Given the description of an element on the screen output the (x, y) to click on. 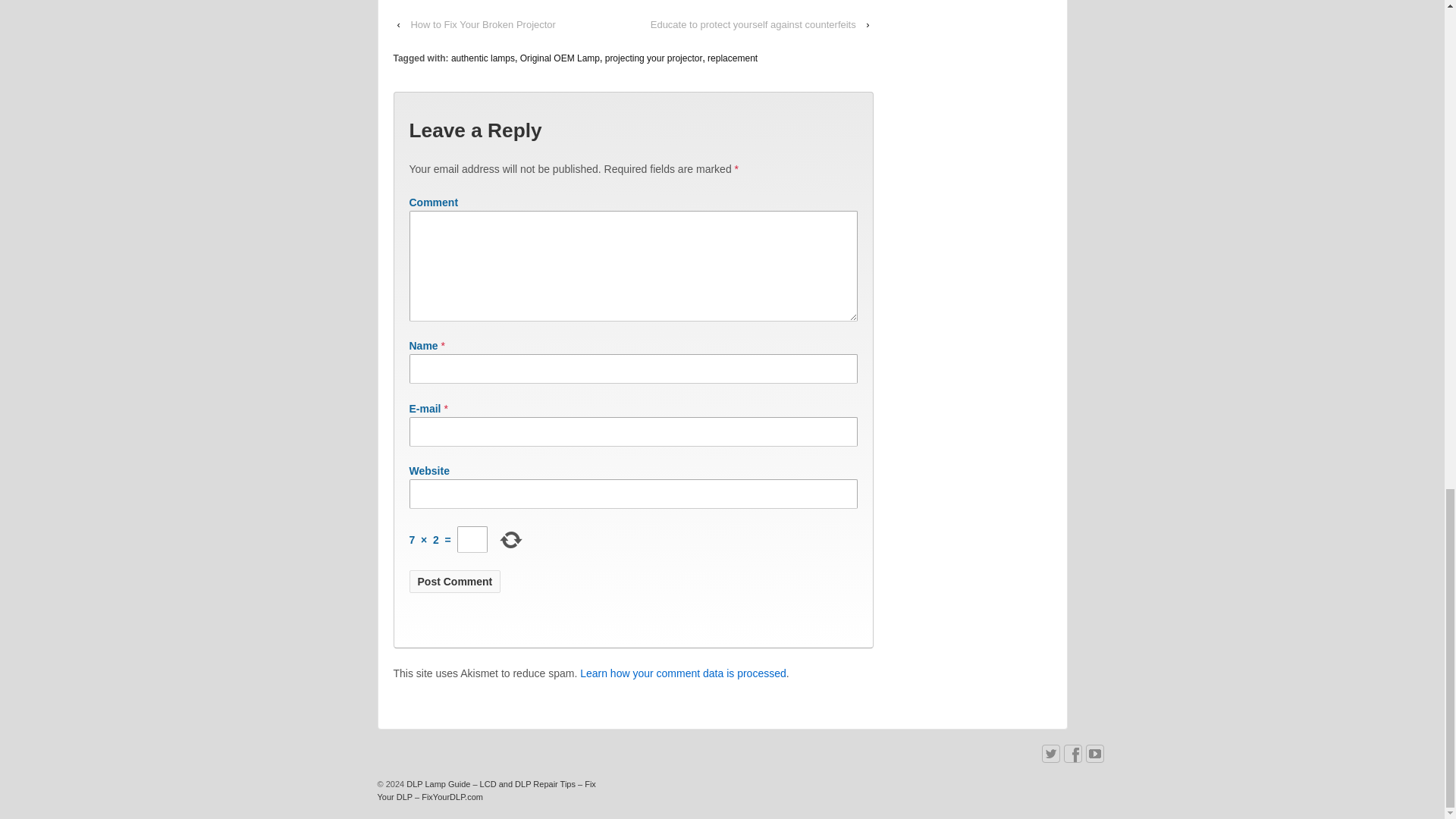
Post Comment (454, 581)
